Given the description of an element on the screen output the (x, y) to click on. 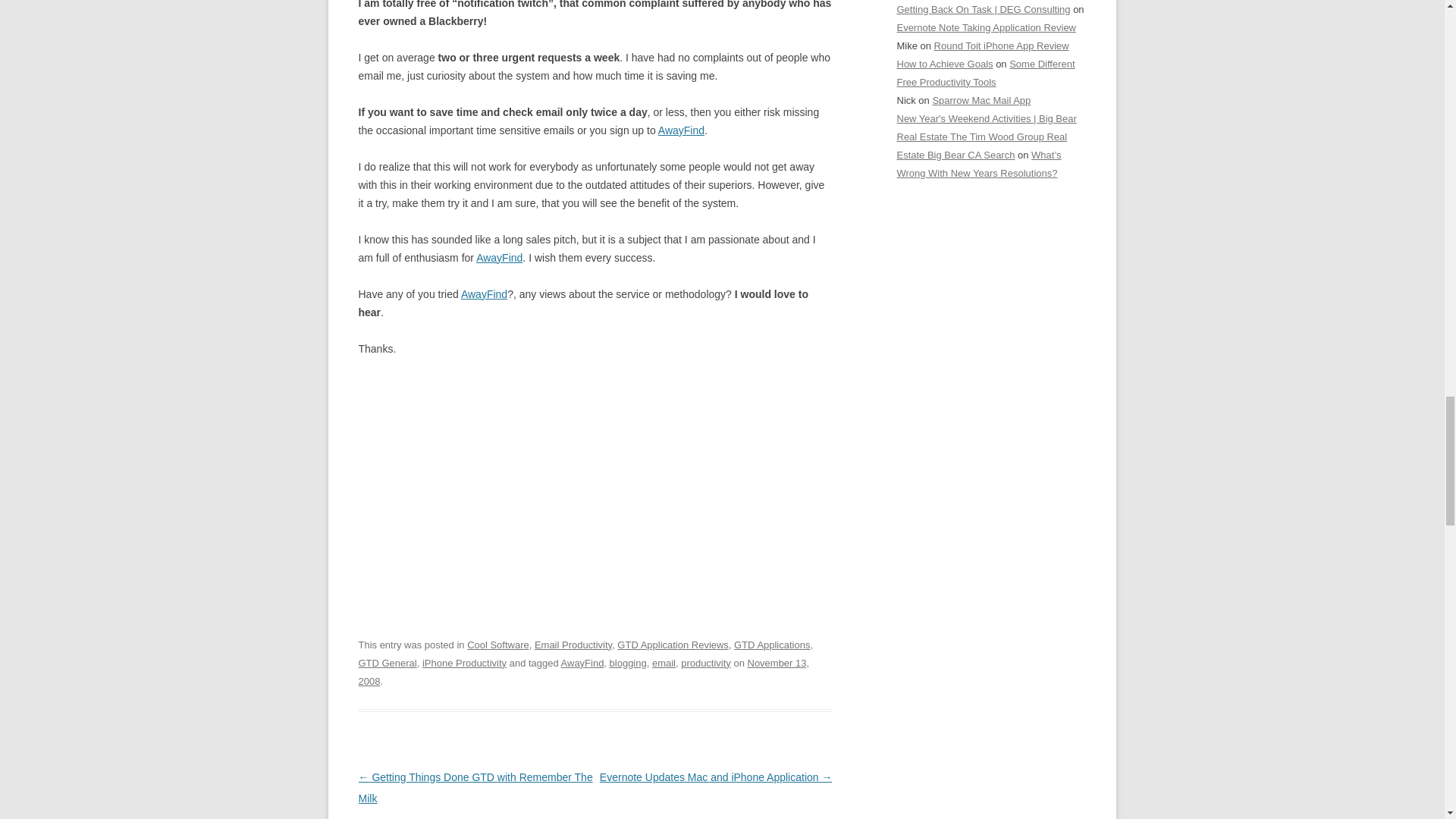
Email Productivity (572, 644)
4:45 pm (583, 672)
AwayFind (582, 663)
GTD General (387, 663)
GTD Application Reviews (673, 644)
blogging (628, 663)
email (663, 663)
iPhone Productivity (464, 663)
Cool Software (498, 644)
AwayFind (483, 294)
